Given the description of an element on the screen output the (x, y) to click on. 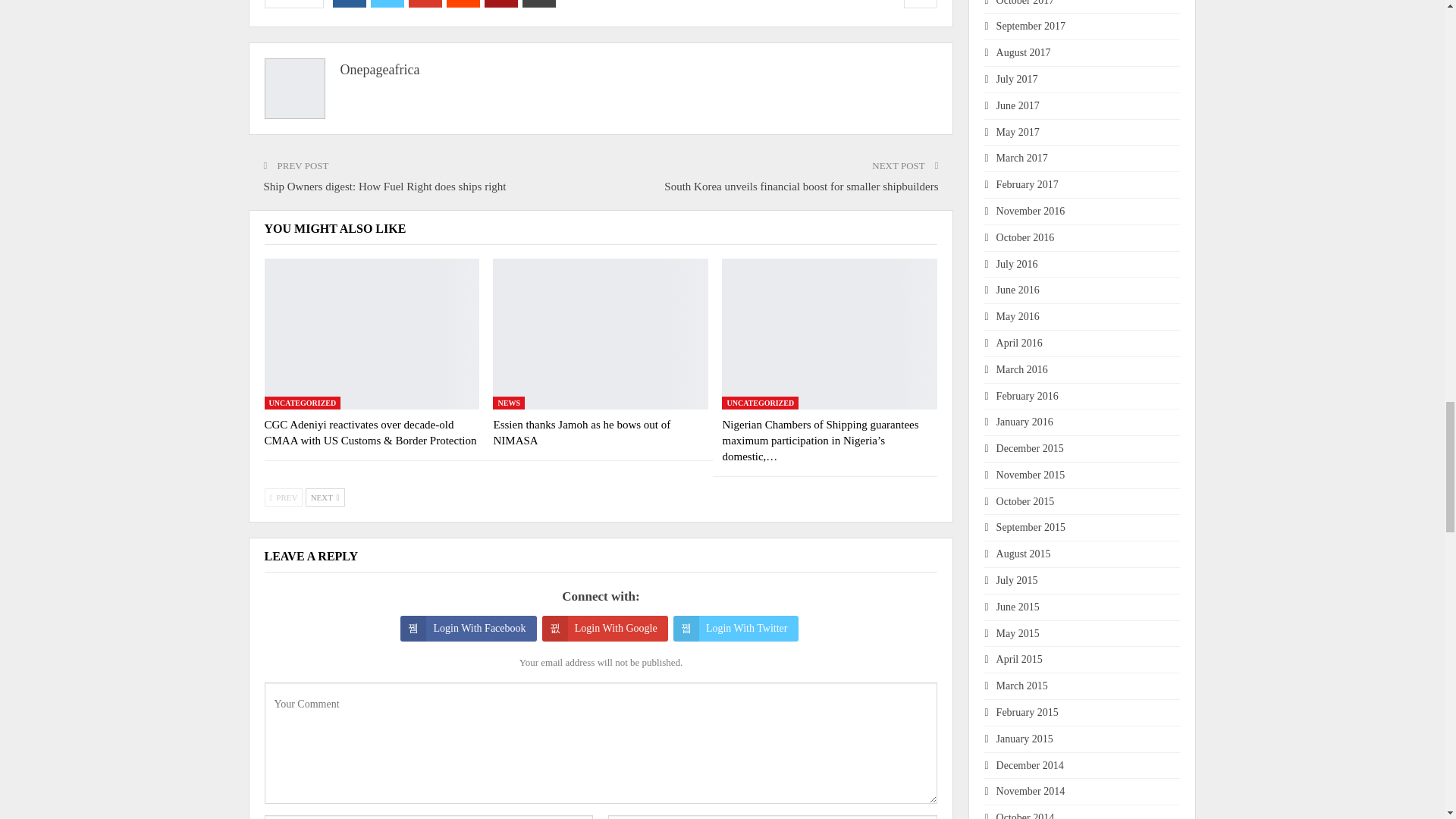
Essien thanks Jamoh as he bows out of NIMASA (581, 432)
Previous (282, 497)
Essien thanks Jamoh as he bows out of NIMASA (600, 333)
Next (325, 497)
